Given the description of an element on the screen output the (x, y) to click on. 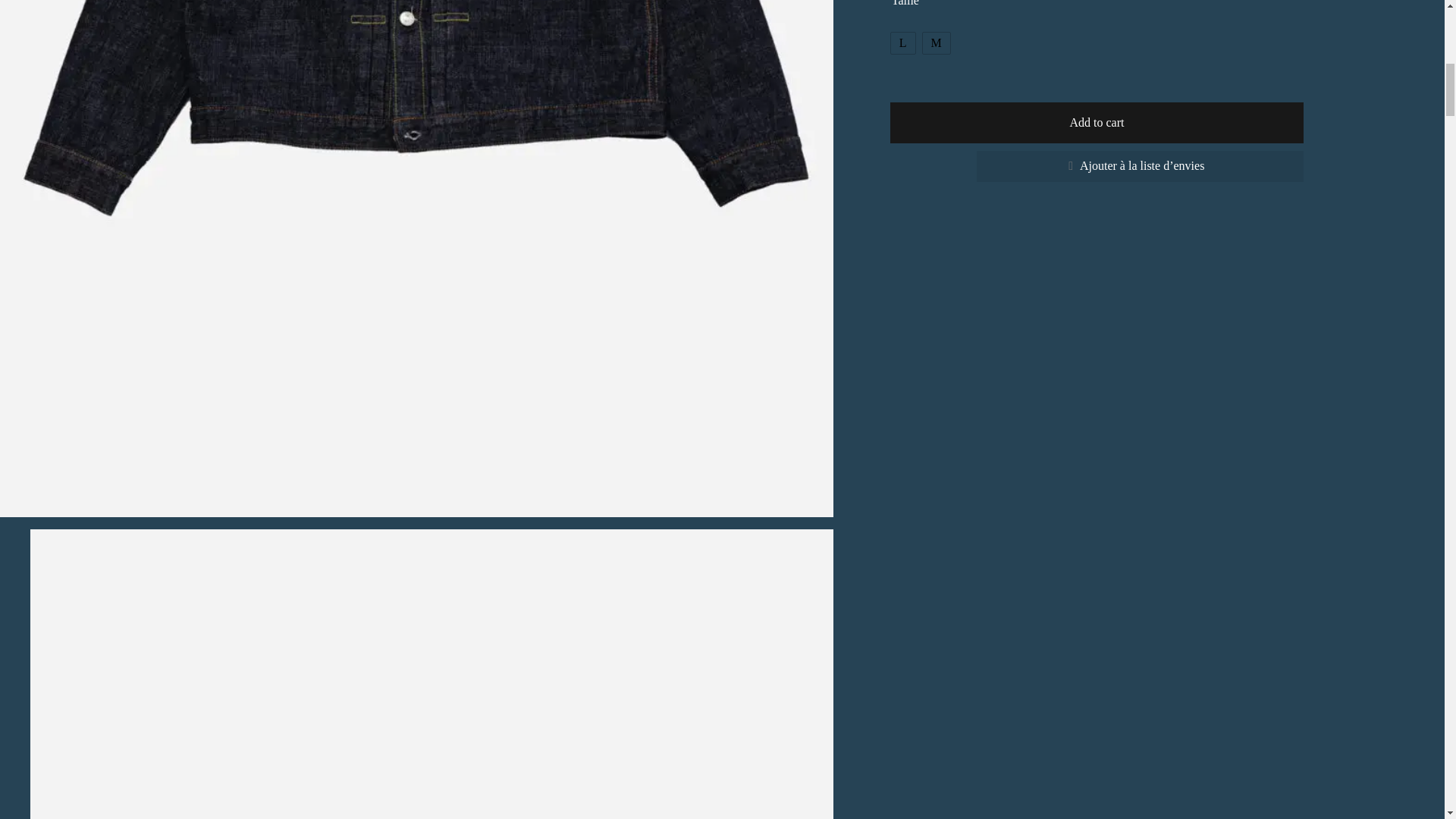
Add to cart (1096, 122)
M (935, 42)
L (902, 42)
